Given the description of an element on the screen output the (x, y) to click on. 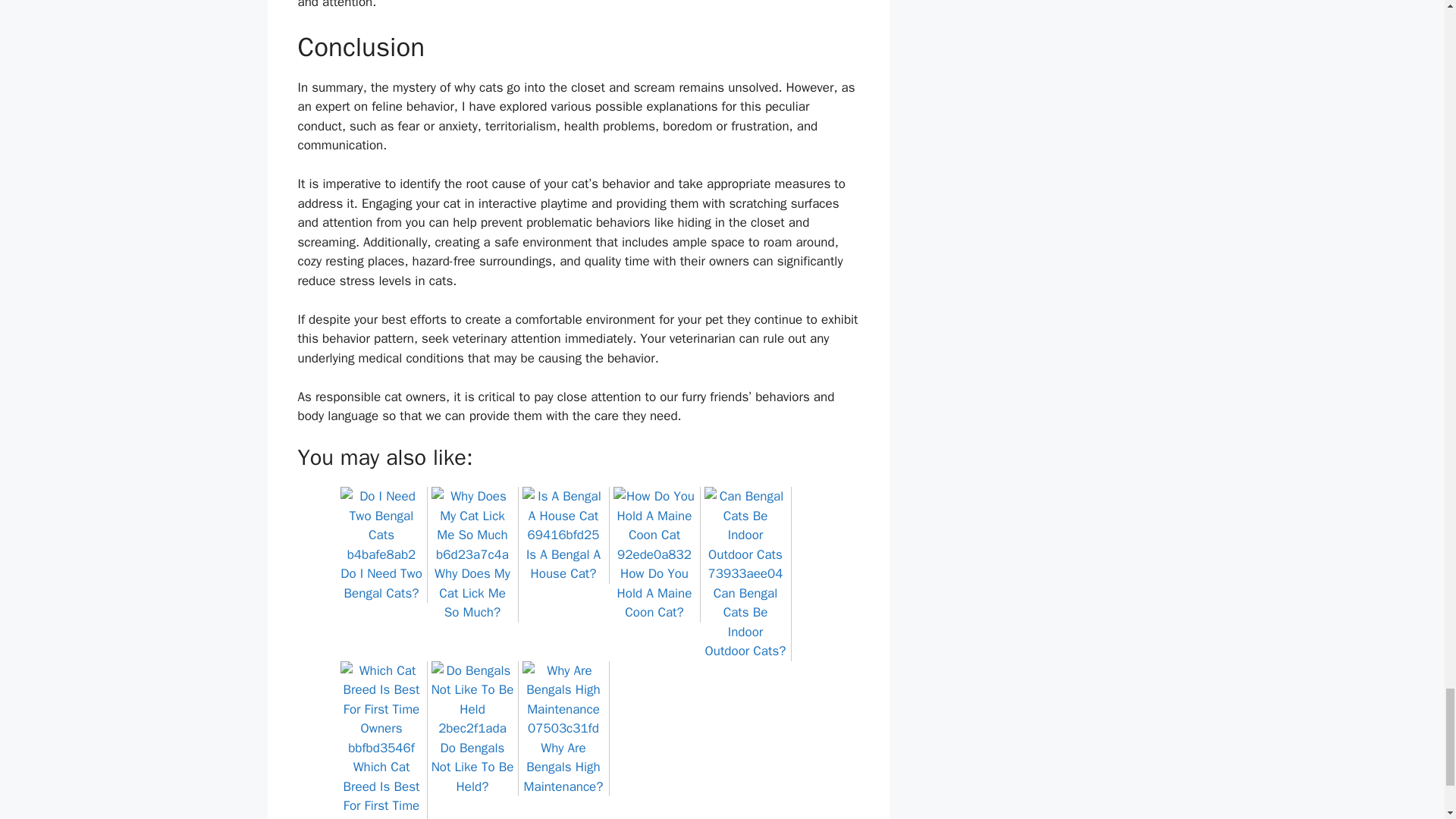
Which Cat Breed Is Best For First Time Owners? (380, 779)
Do I Need Two Bengal Cats? (380, 574)
Why Are Bengals High Maintenance? (562, 757)
How Do You Hold A Maine Coon Cat? (653, 583)
Do Bengals Not Like To Be Held? (471, 757)
Why Does My Cat Lick Me So Much? (471, 583)
Do Bengals Not Like To Be Held? 7 (471, 699)
How Do You Hold A Maine Coon Cat? 4 (653, 525)
Why Are Bengals High Maintenance? 8 (562, 699)
Is A Bengal A House Cat? (562, 554)
